Given the description of an element on the screen output the (x, y) to click on. 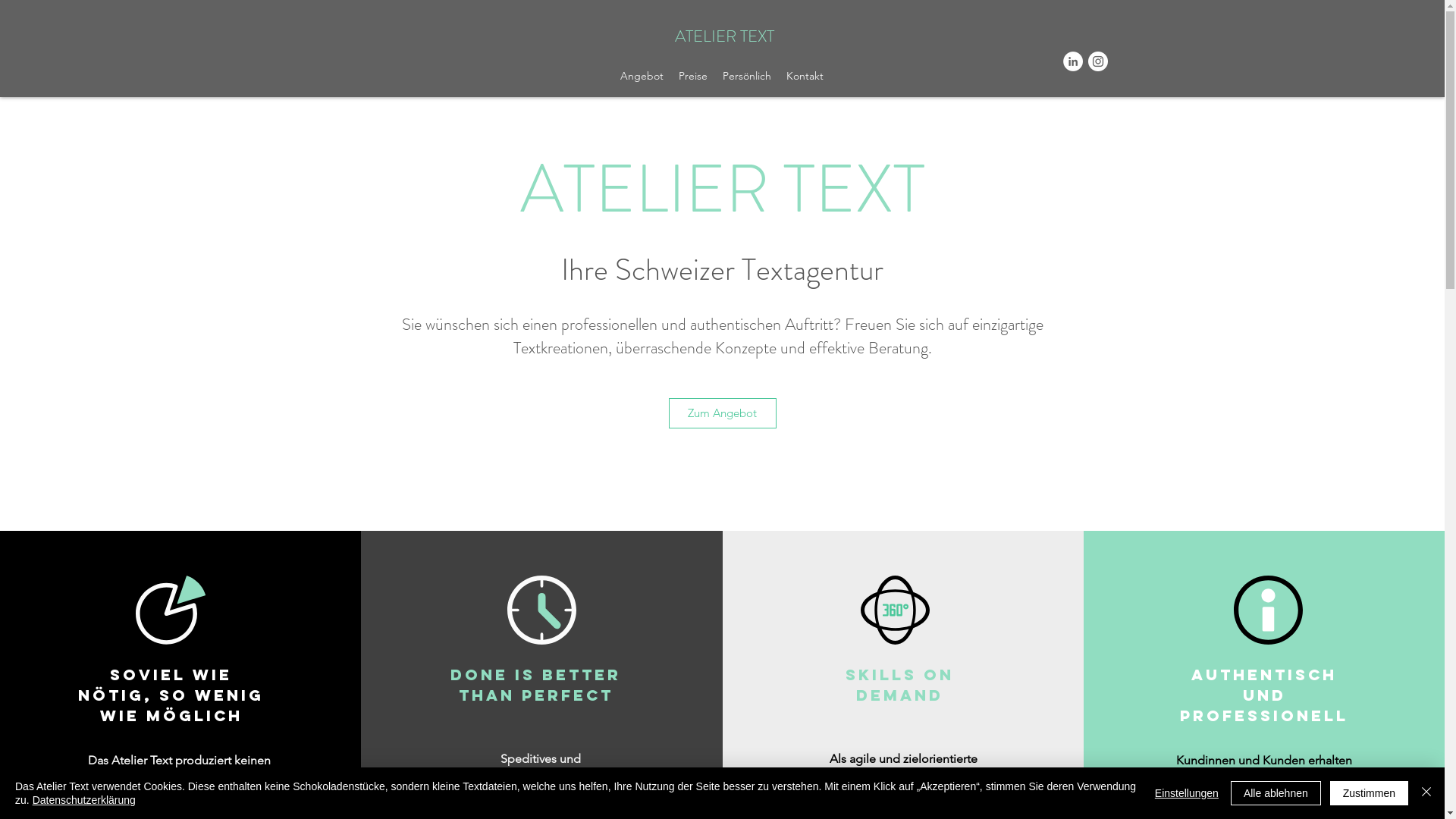
Zum Angebot Element type: text (722, 413)
ATELIER TEXT Element type: text (724, 35)
Zustimmen Element type: text (1369, 793)
Preise Element type: text (693, 75)
Kontakt Element type: text (804, 75)
Angebot Element type: text (641, 75)
Alle ablehnen Element type: text (1275, 793)
